Given the description of an element on the screen output the (x, y) to click on. 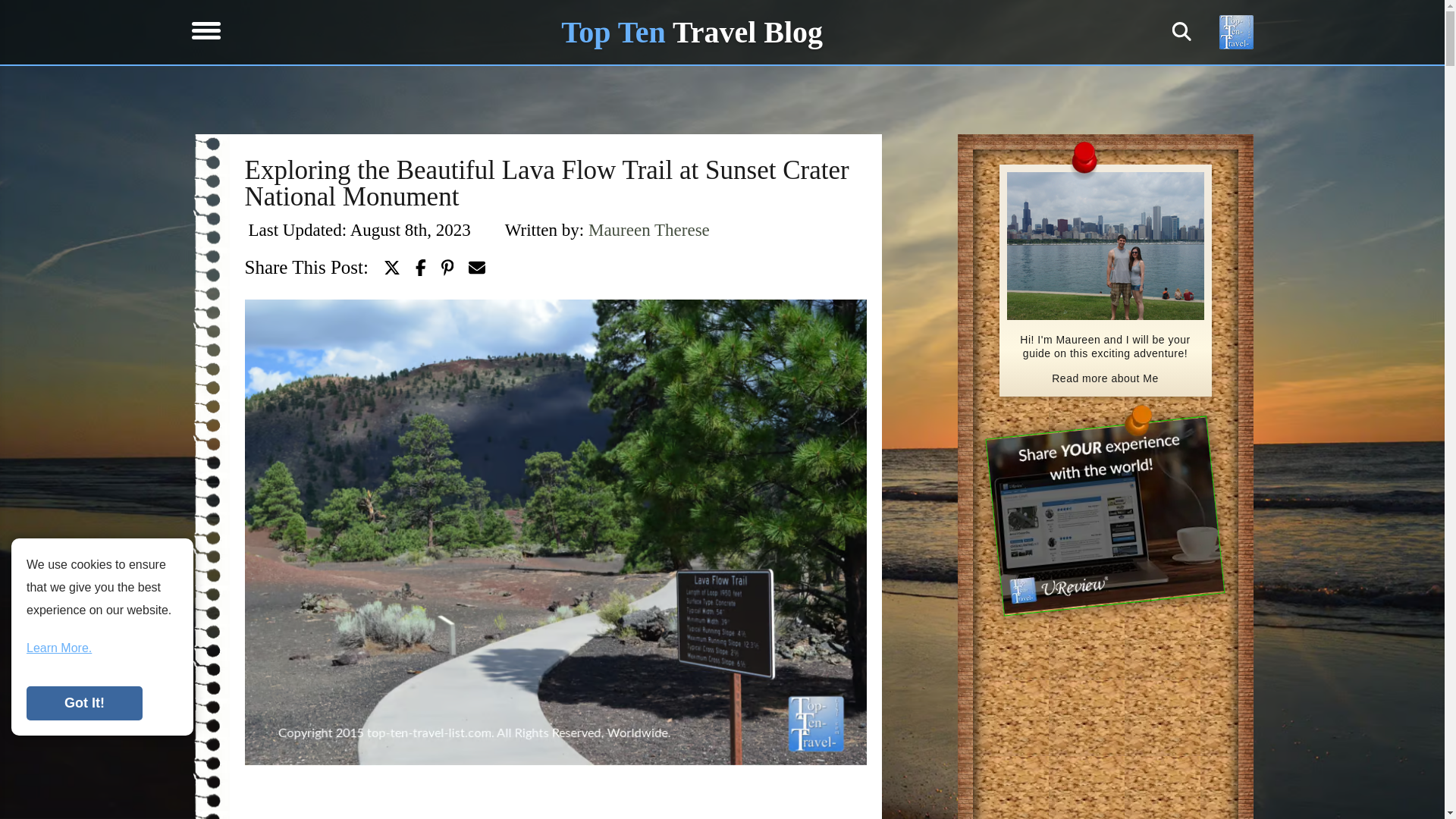
Top Ten Travel List Home (691, 32)
search Top Ten Travel Blog (1181, 32)
Top Ten Travel Blog (691, 32)
